Given the description of an element on the screen output the (x, y) to click on. 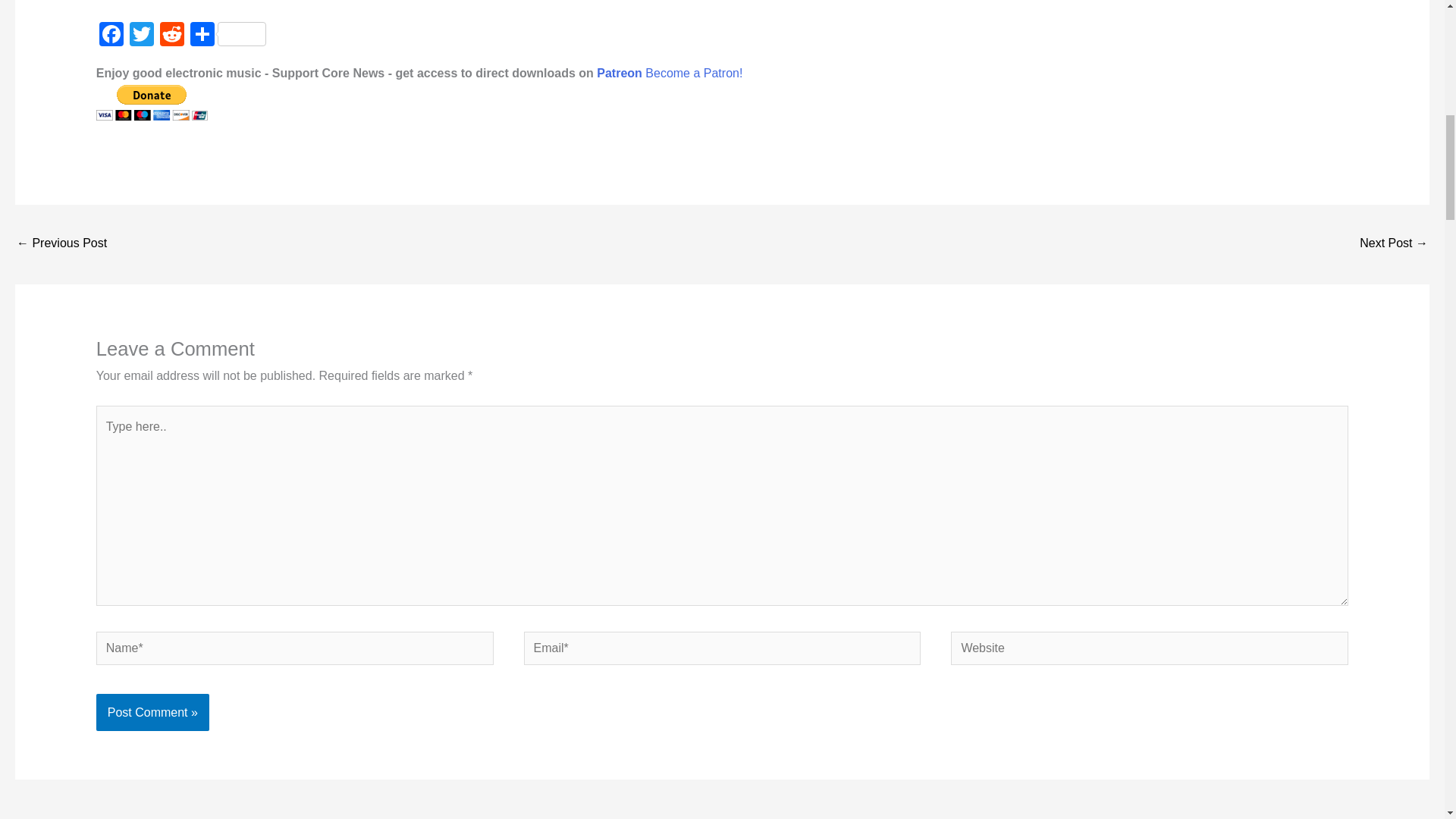
Facebook (111, 35)
Patreon (619, 72)
Become a Patron! (693, 72)
Reddit (172, 35)
PayPal - The safer, easier way to pay online! (152, 102)
Twitter (141, 35)
Twitter (141, 35)
Reddit (172, 35)
Facebook (111, 35)
Share (228, 35)
